Given the description of an element on the screen output the (x, y) to click on. 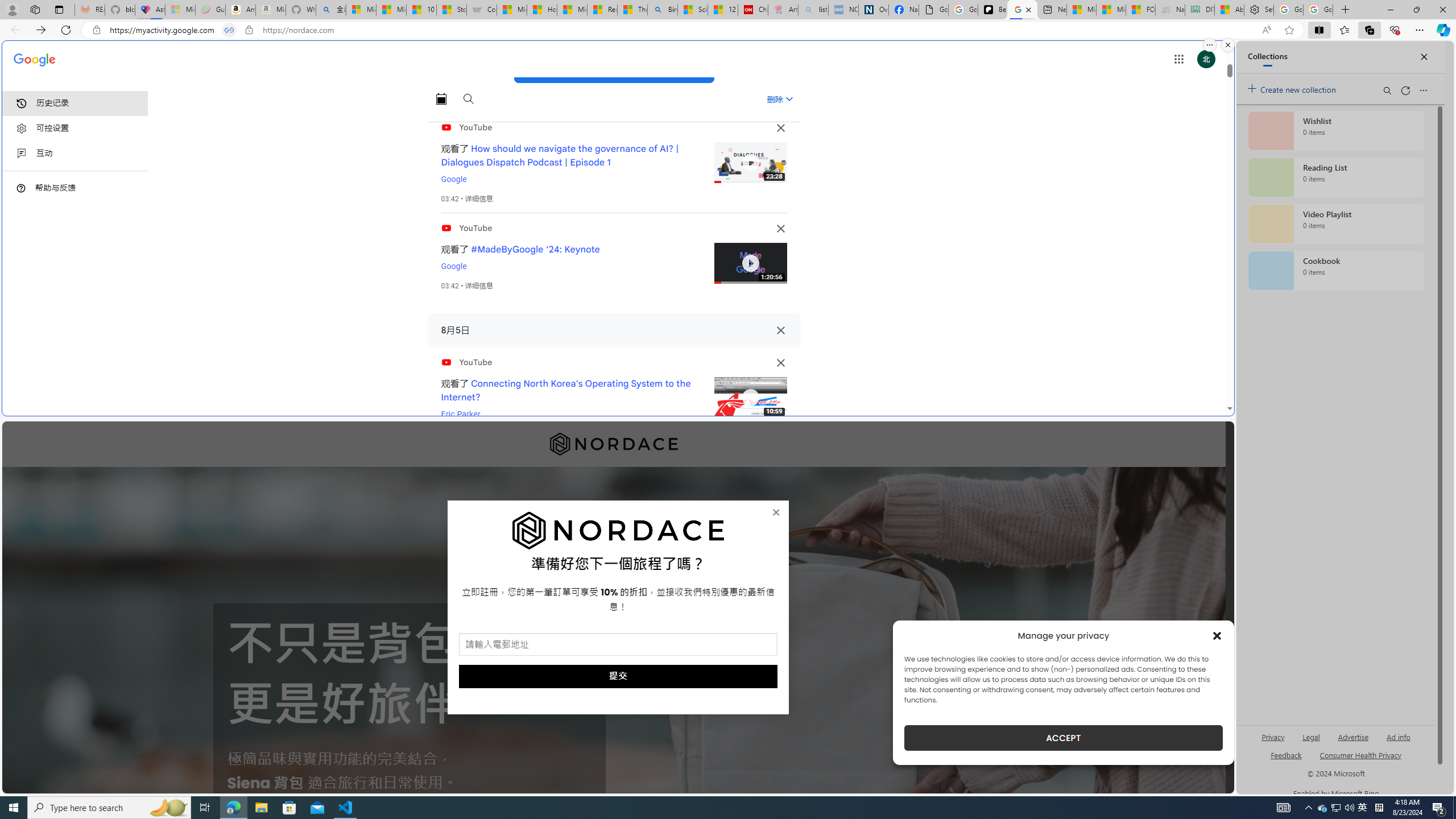
How I Got Rid of Microsoft Edge's Unnecessary Features (542, 9)
AutomationID: sb_feedback (1286, 754)
Combat Siege (481, 9)
Aberdeen, Hong Kong SAR hourly forecast | Microsoft Weather (1229, 9)
Class: DTiKkd NMm5M (21, 188)
Class: asE2Ub NMm5M (788, 99)
